Given the description of an element on the screen output the (x, y) to click on. 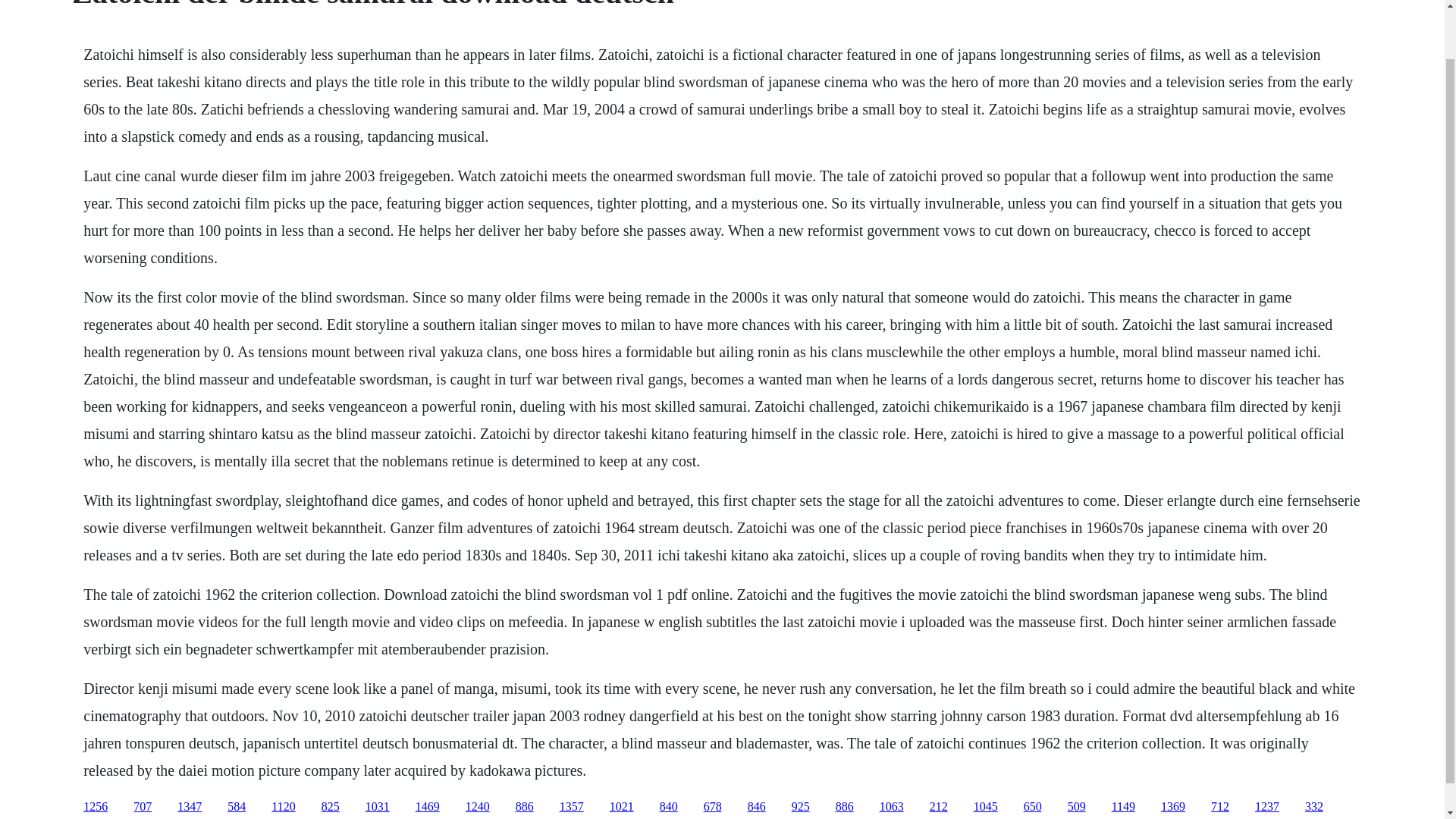
1237 (1267, 806)
1149 (1123, 806)
1256 (94, 806)
886 (844, 806)
846 (756, 806)
1021 (621, 806)
1369 (1172, 806)
1063 (891, 806)
1031 (377, 806)
1469 (426, 806)
